Given the description of an element on the screen output the (x, y) to click on. 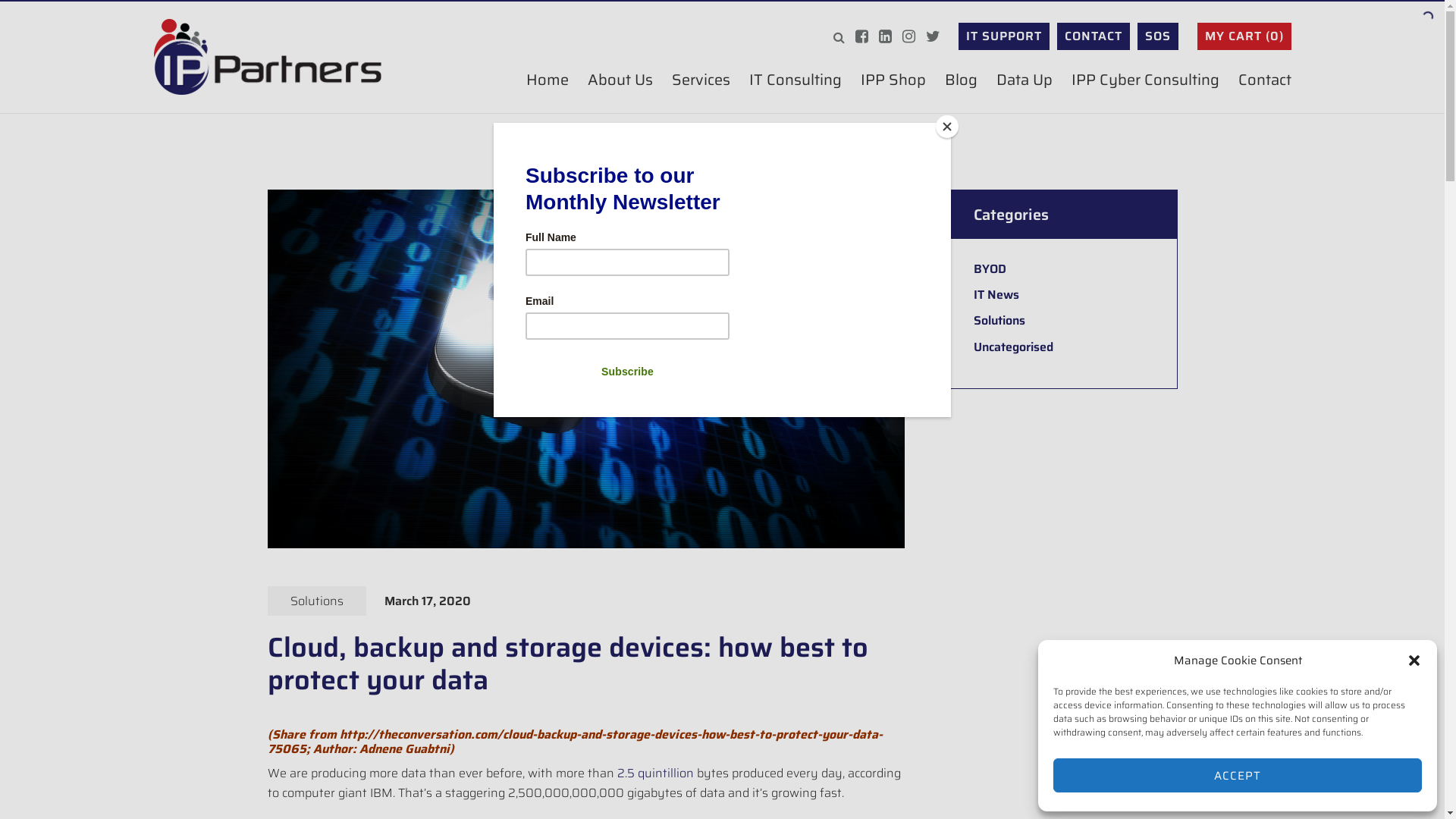
Home Element type: text (547, 79)
Blog Element type: text (960, 79)
IT News Element type: text (996, 294)
ACCEPT Element type: text (1237, 775)
Contact Element type: text (1263, 79)
About Us Element type: text (619, 79)
CONTACT Element type: text (1093, 36)
BYOD Element type: text (989, 268)
2.5 quintillion Element type: text (655, 772)
Data Up Element type: text (1024, 79)
Solutions Element type: text (999, 319)
IT Consulting Element type: text (795, 79)
SOS Element type: text (1157, 36)
MY CART (0) Element type: text (1243, 36)
IPP Cyber Consulting Element type: text (1144, 79)
IPP Shop Element type: text (892, 79)
IT SUPPORT Element type: text (1003, 36)
Solutions Element type: text (315, 600)
Services Element type: text (700, 79)
Uncategorised Element type: text (1013, 346)
